Given the description of an element on the screen output the (x, y) to click on. 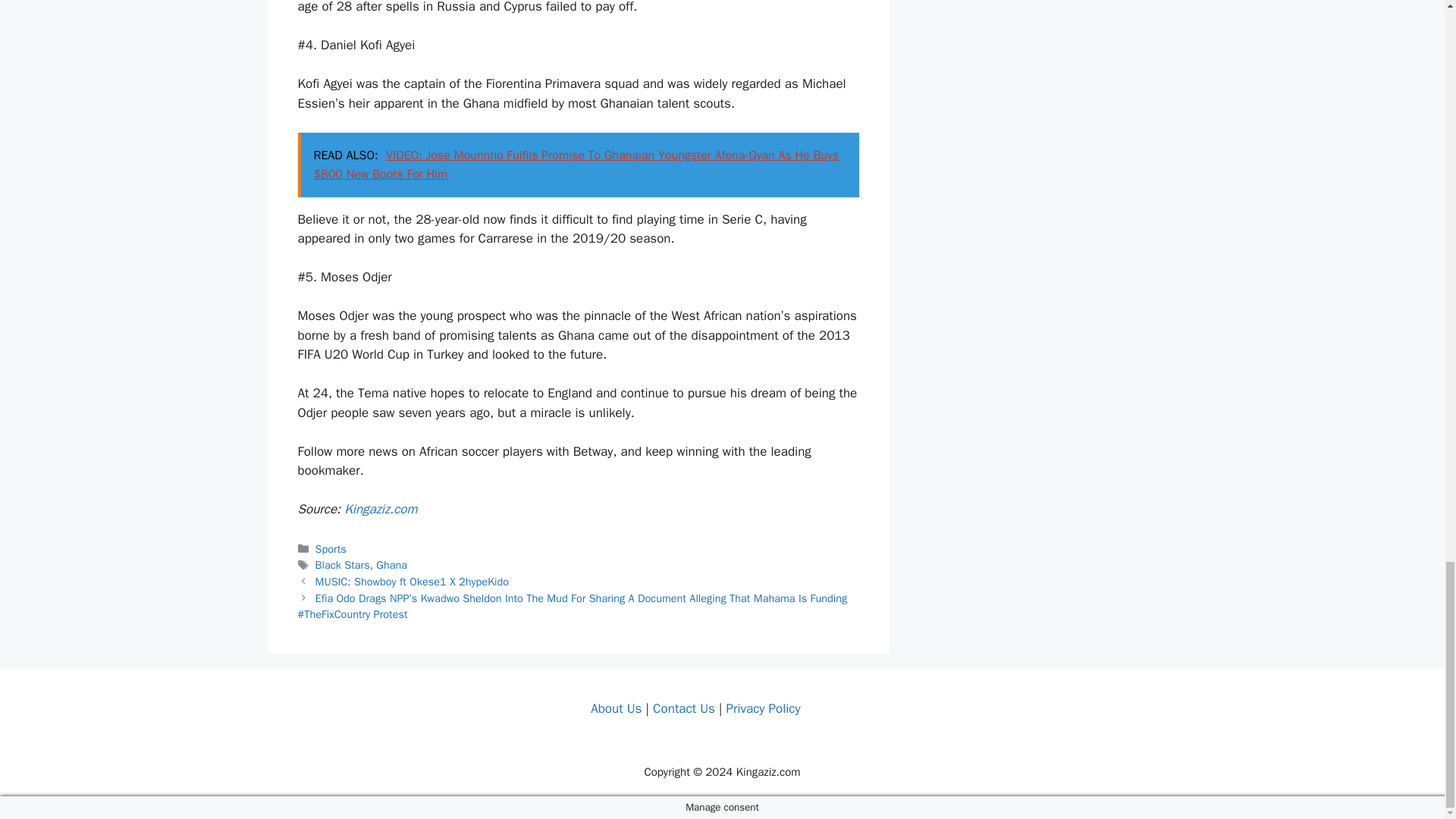
Contact Us (683, 708)
Kingaziz.com (379, 508)
About Us (616, 708)
Ghana (391, 564)
Privacy Policy (762, 708)
MUSIC: Showboy ft Okese1 X 2hypeKido (412, 581)
Black Stars (342, 564)
Sports (330, 549)
